Given the description of an element on the screen output the (x, y) to click on. 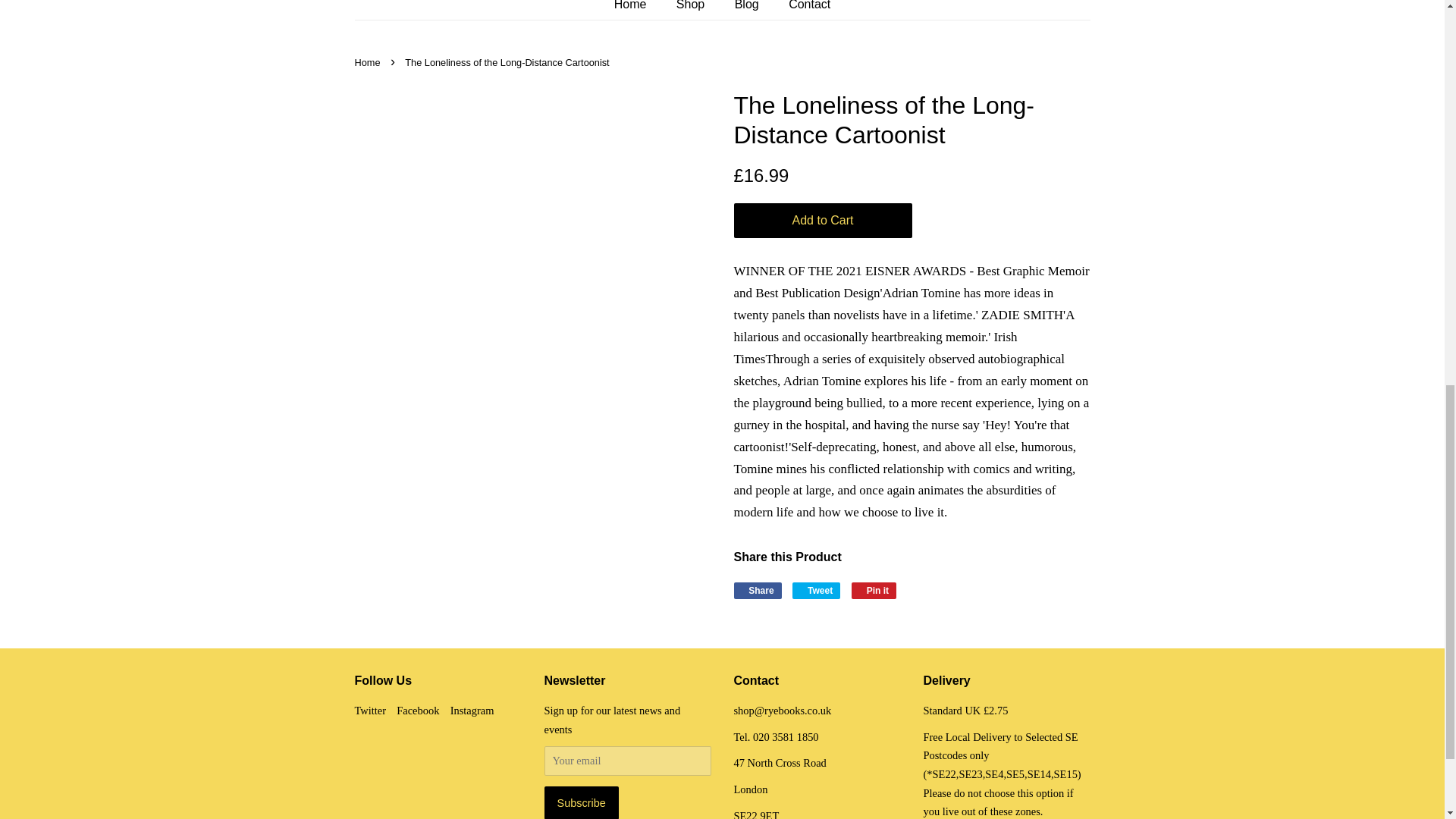
Share on Facebook (757, 590)
Rye Books on Facebook (417, 710)
Tweet on Twitter (816, 590)
Subscribe (581, 802)
Pin on Pinterest (873, 590)
Back to the frontpage (369, 61)
Rye Books on Instagram (472, 710)
Rye Books on Twitter (371, 710)
